Given the description of an element on the screen output the (x, y) to click on. 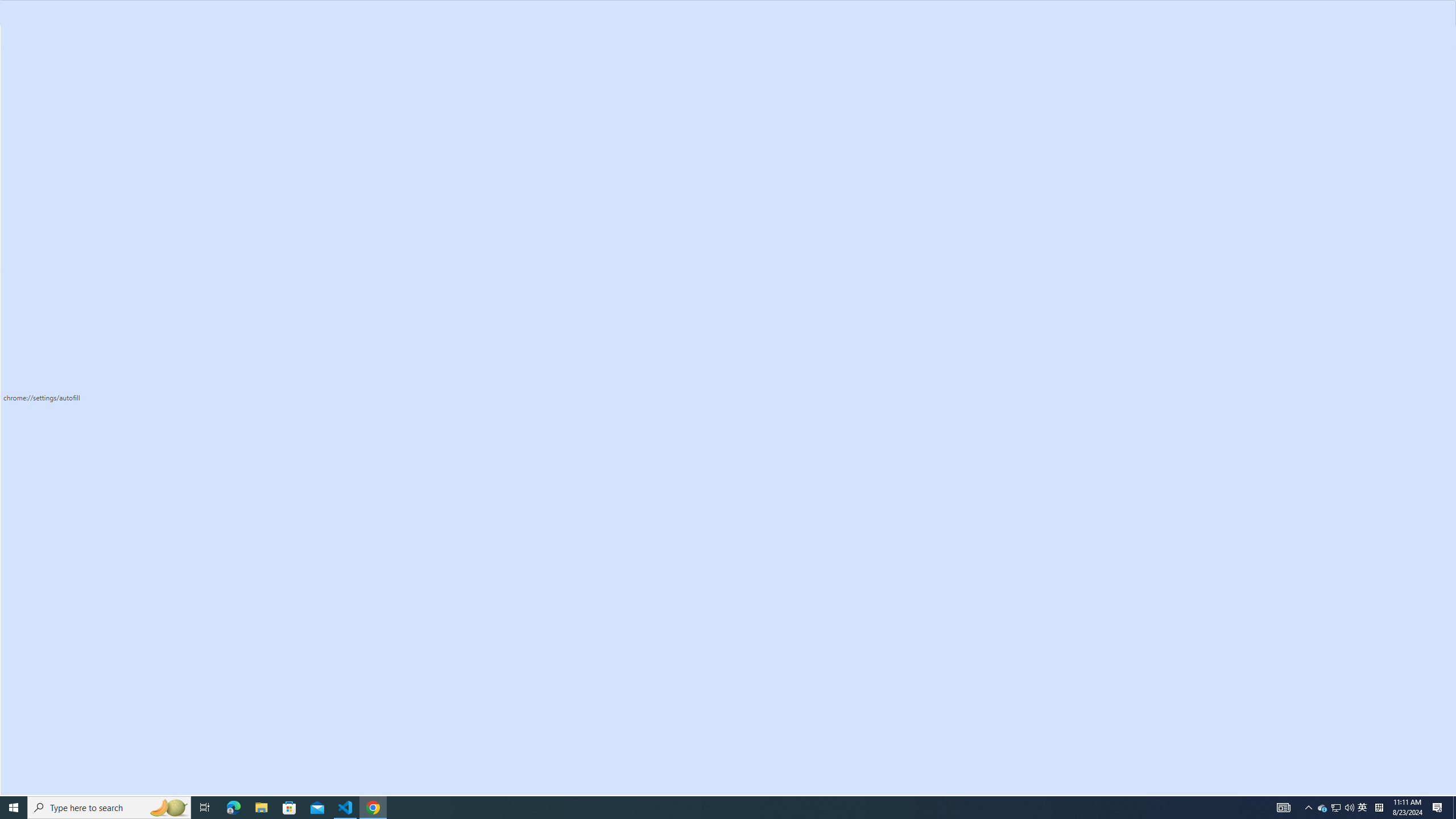
On startup (70, 255)
Reset settings (70, 379)
Google Password Manager (904, 131)
Default browser (70, 233)
Accessibility (70, 333)
Settings - Autofill and passwords (88, 11)
Extensions (70, 412)
